Given the description of an element on the screen output the (x, y) to click on. 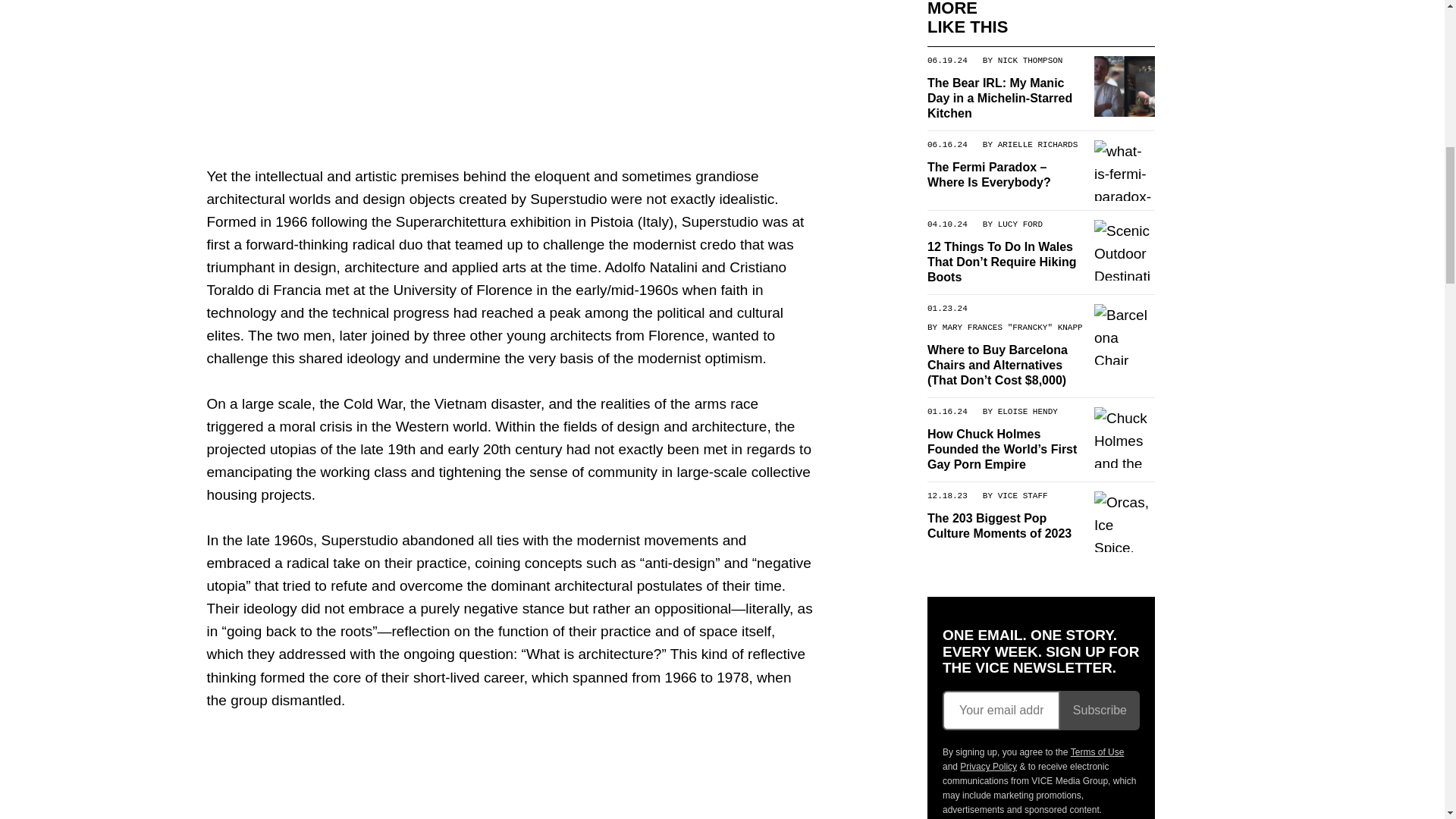
Posts by Nick Thompson (1029, 59)
Posts by Arielle Richards (1037, 143)
Newsletter Signup Form (1040, 710)
Posts by VICE Staff (1021, 494)
Posts by Lucy Ford (1019, 223)
Posts by Eloise Hendy (1027, 410)
Posts by Mary Frances "Francky" Knapp (1011, 327)
